Given the description of an element on the screen output the (x, y) to click on. 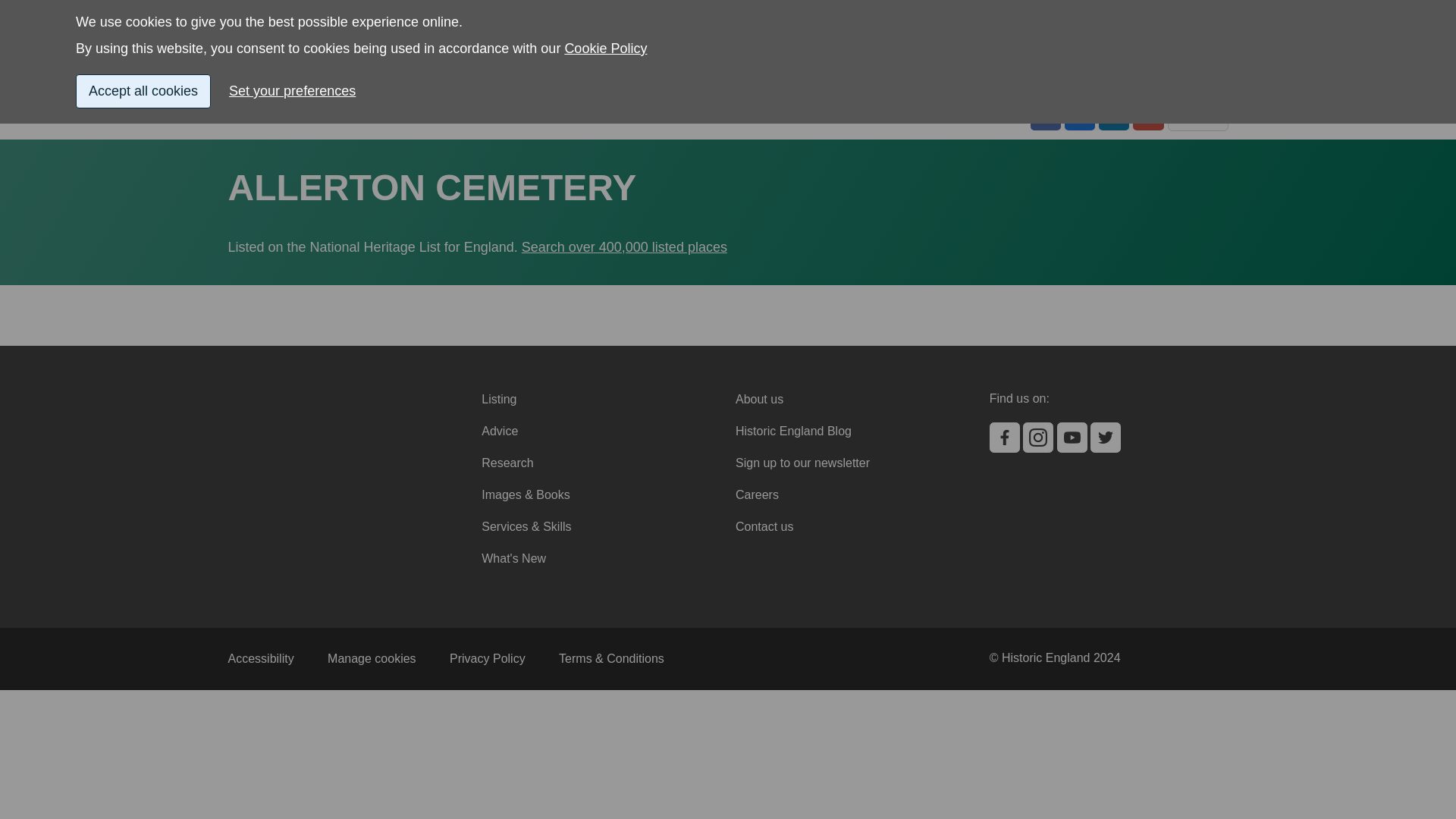
Set your preferences (298, 29)
Print this page (1197, 115)
Share this page on Twitter (1079, 114)
About Us (1202, 82)
Share this page by Email (1147, 114)
Search Historic England (1154, 36)
Listing (244, 82)
Advice (377, 82)
Historic England - home page (305, 36)
Sign in (1038, 36)
